Given the description of an element on the screen output the (x, y) to click on. 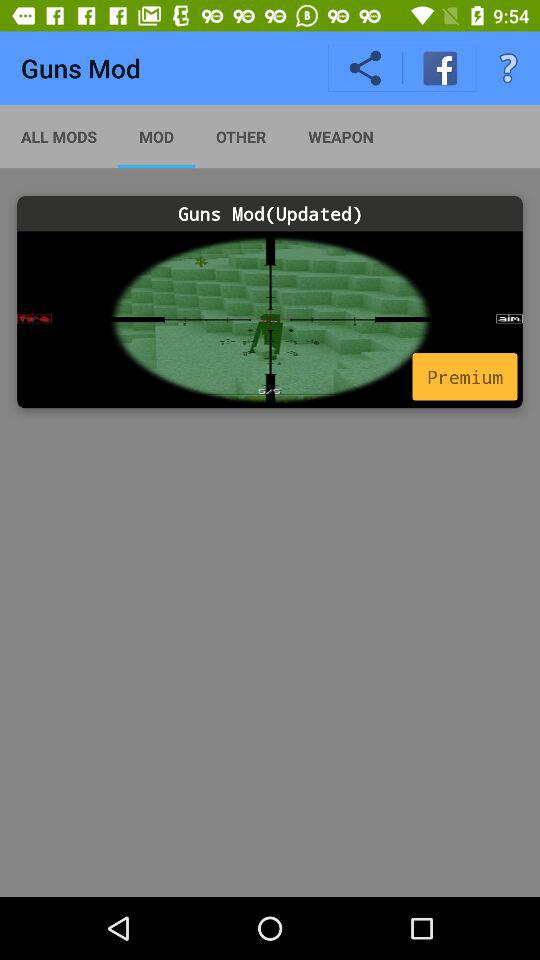
turn off premium icon (464, 376)
